Given the description of an element on the screen output the (x, y) to click on. 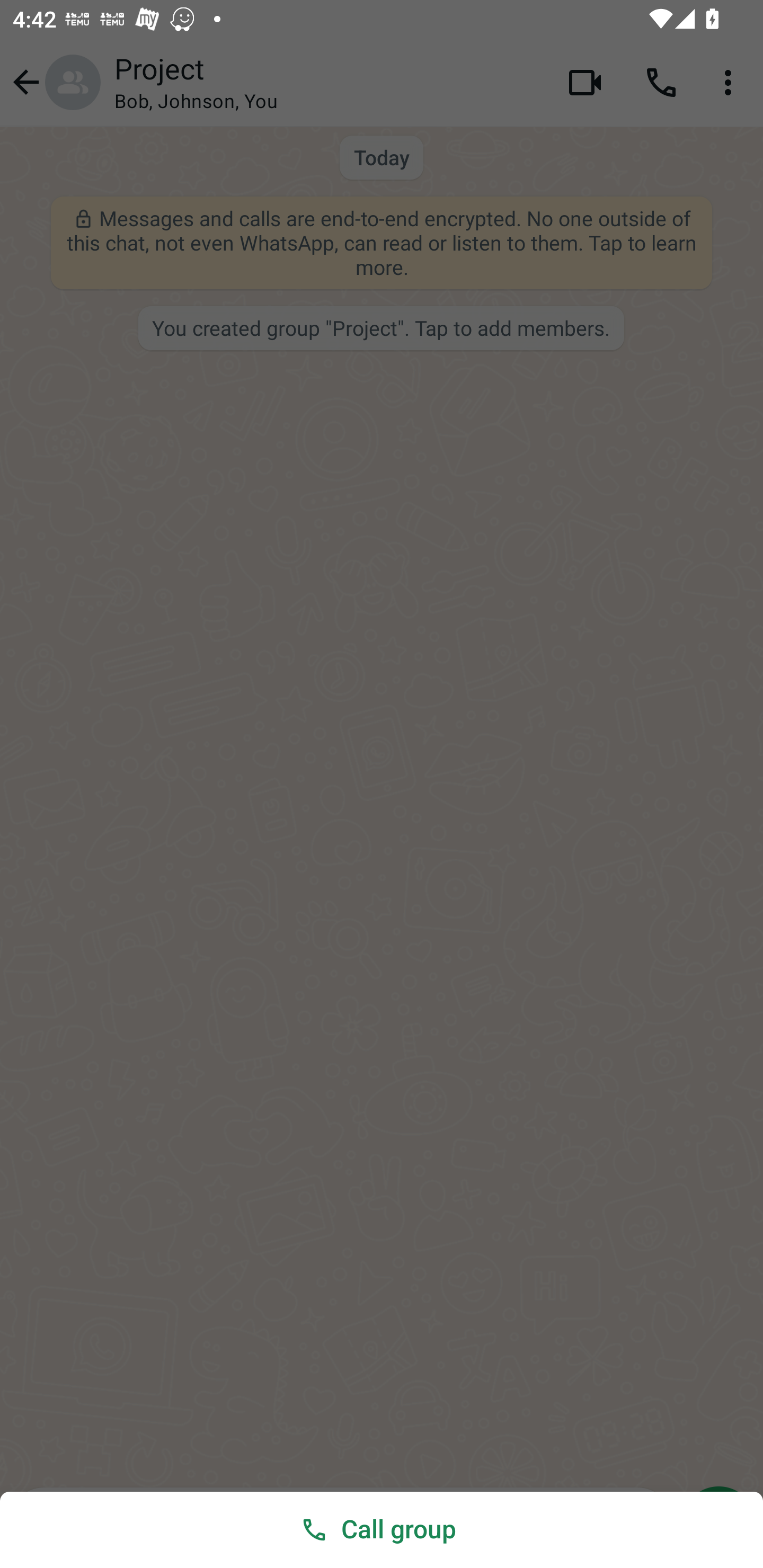
Call group (381, 1529)
